Given the description of an element on the screen output the (x, y) to click on. 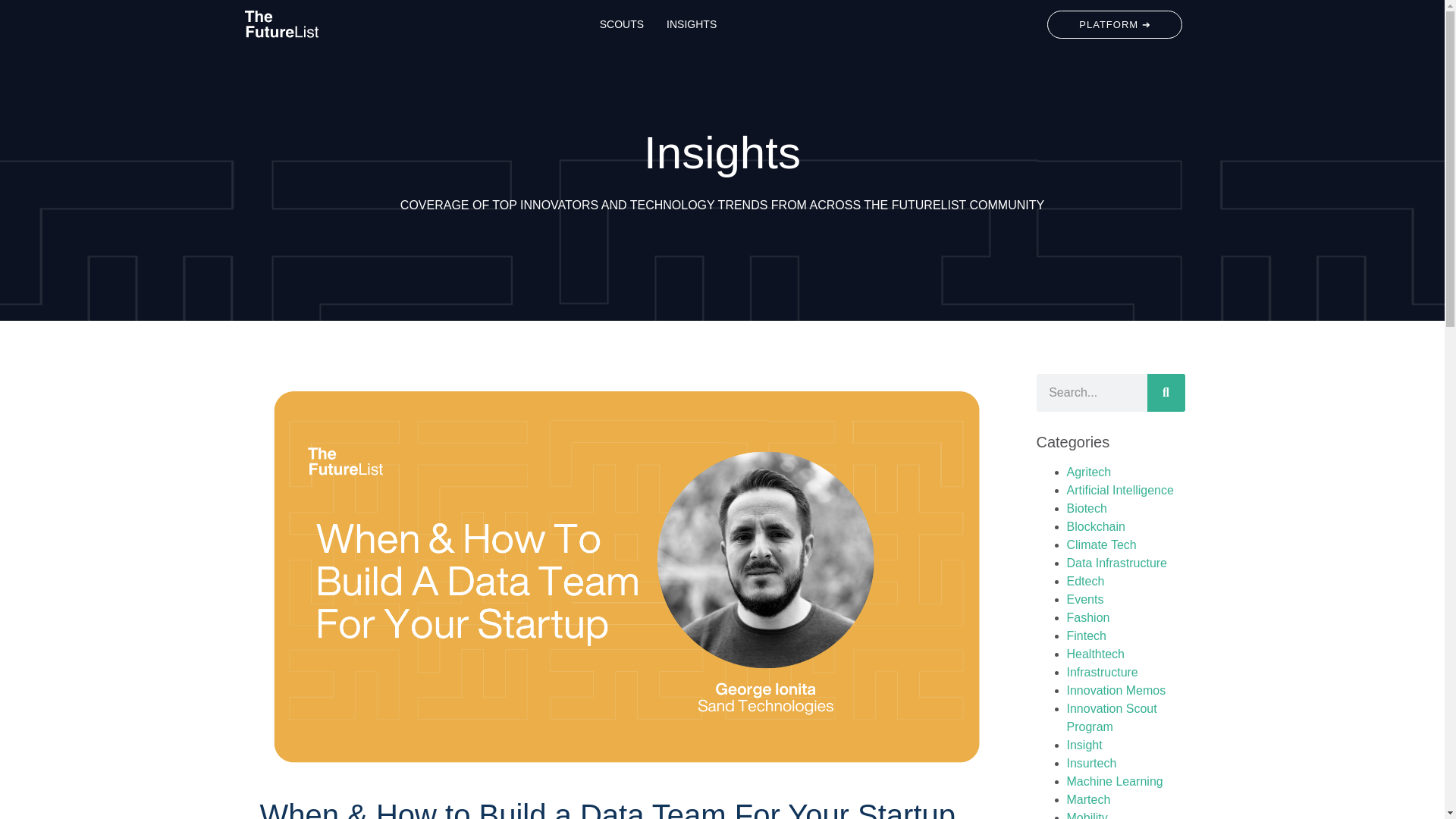
Events (1084, 599)
Biotech (1085, 508)
Healthtech (1094, 653)
Edtech (1084, 581)
Data Infrastructure (1116, 562)
Mobility (1085, 815)
Climate Tech (1100, 544)
Artificial Intelligence (1119, 490)
Martech (1087, 799)
Insight (1083, 744)
SCOUTS (621, 23)
Blockchain (1094, 526)
Infrastructure (1101, 671)
Innovation Memos (1115, 689)
Innovation Scout Program (1110, 717)
